Given the description of an element on the screen output the (x, y) to click on. 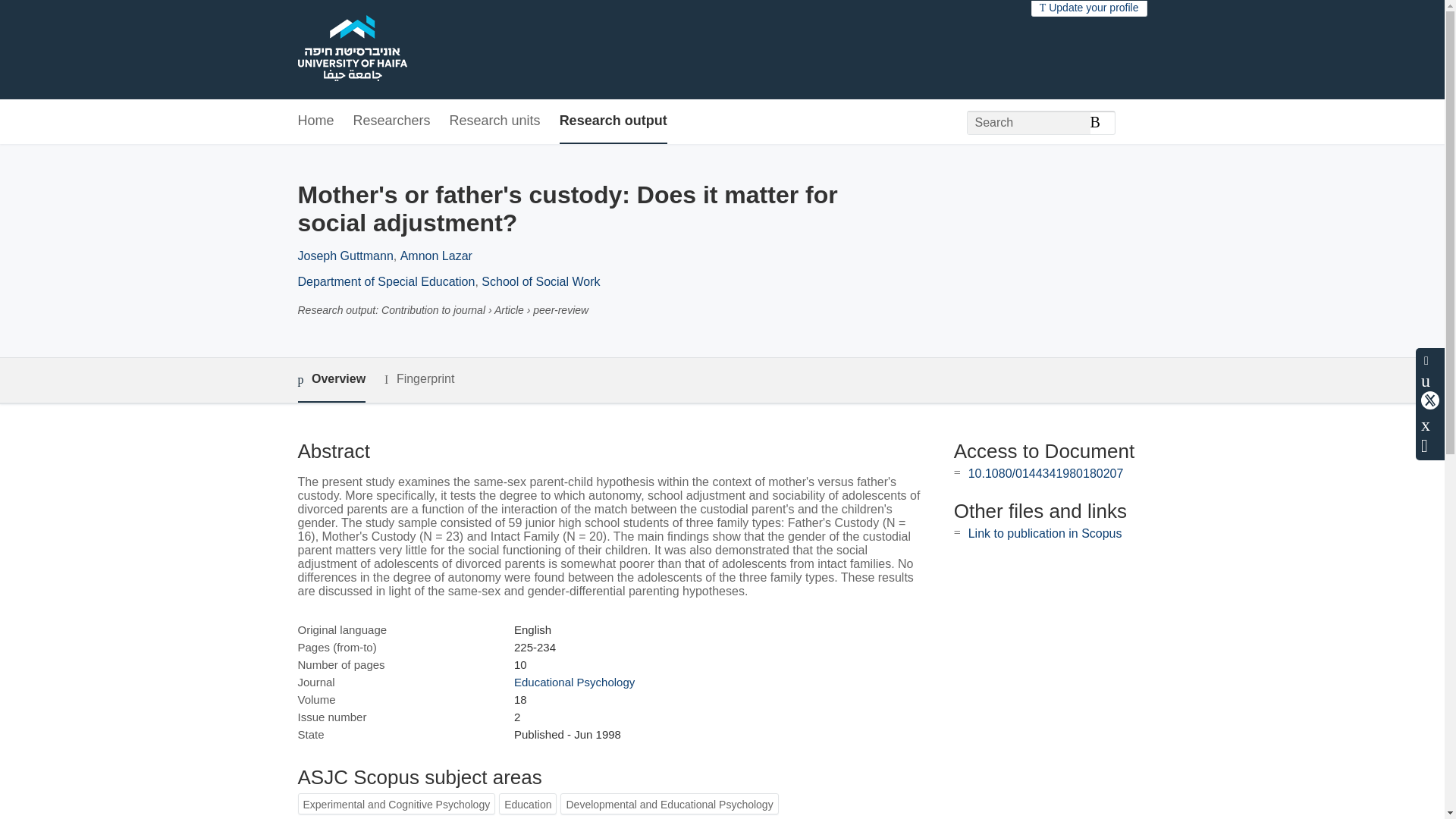
Link to publication in Scopus (1045, 533)
School of Social Work (540, 281)
Research units (494, 121)
Home (315, 121)
Amnon Lazar (435, 255)
Update your profile (1089, 7)
Department of Special Education (385, 281)
Joseph Guttmann (345, 255)
Educational Psychology (573, 681)
Research output (612, 121)
Overview (331, 379)
University of Haifa Home (351, 49)
Researchers (391, 121)
Fingerprint (419, 379)
